Given the description of an element on the screen output the (x, y) to click on. 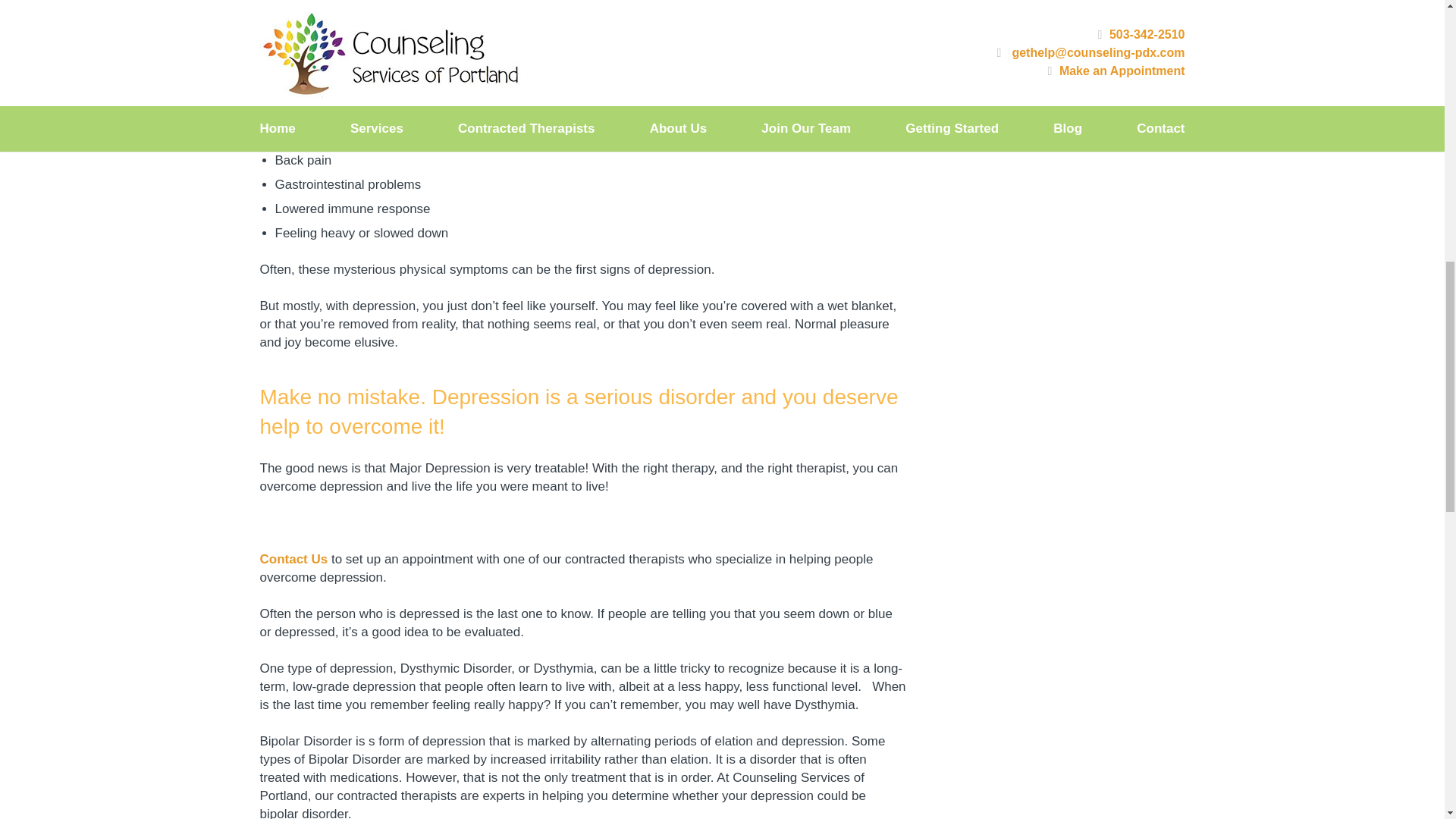
Back to top (1413, 22)
